Given the description of an element on the screen output the (x, y) to click on. 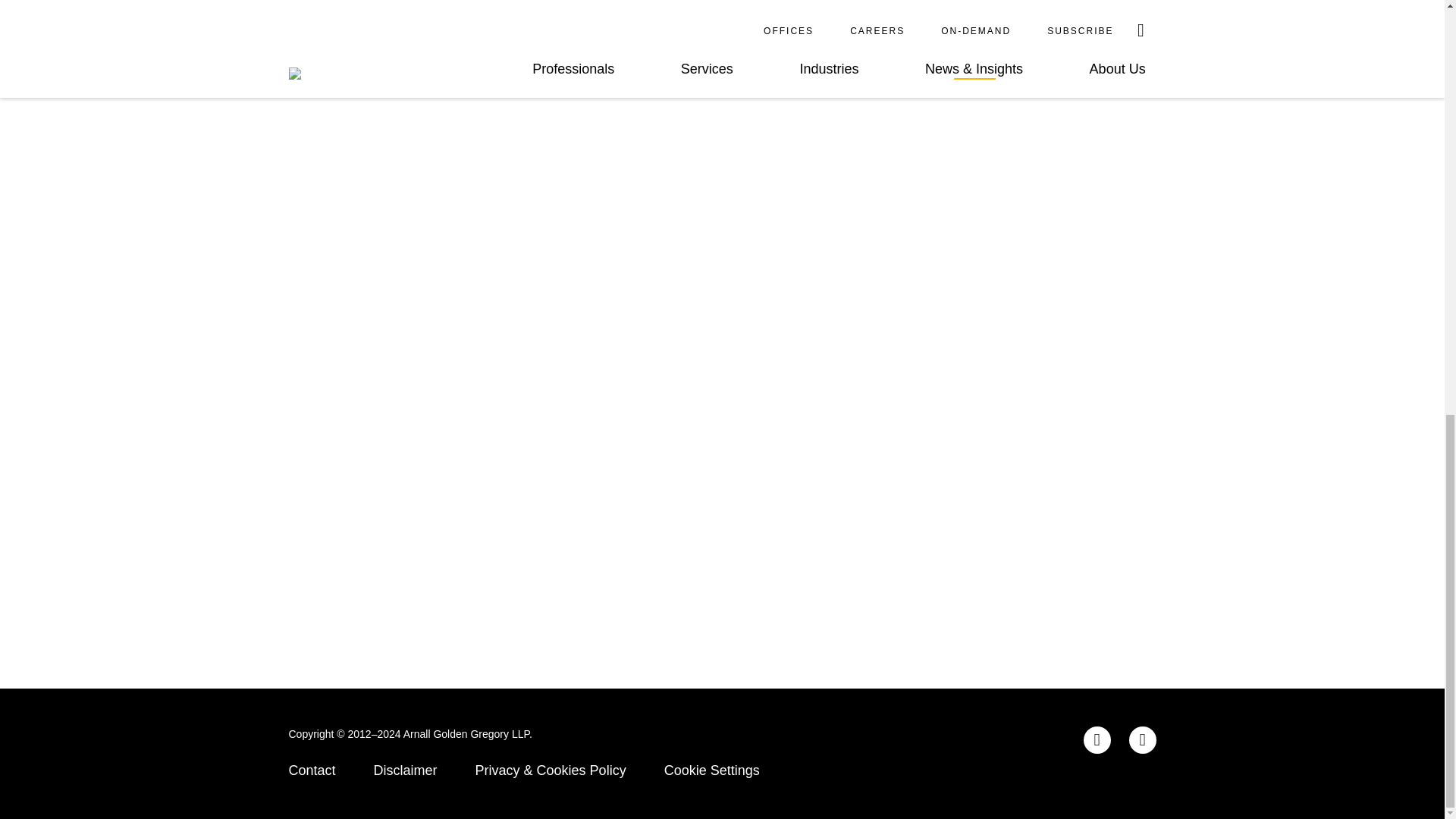
Disclaimer (406, 770)
Contact (311, 770)
Cookie Settings (711, 770)
